Given the description of an element on the screen output the (x, y) to click on. 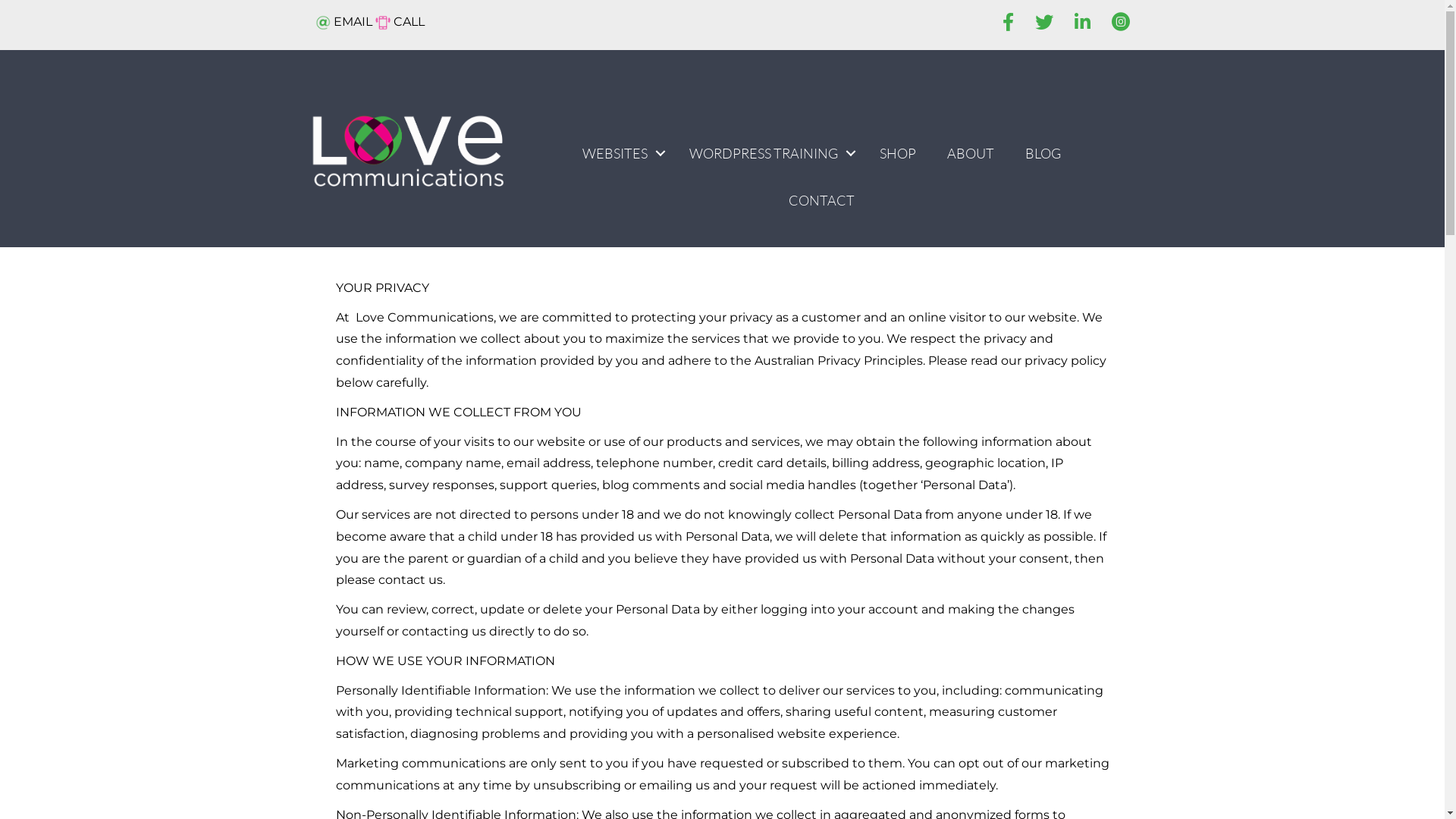
EMAIL Element type: text (343, 21)
BLOG Element type: text (1043, 152)
CALL Element type: text (398, 21)
ABOUT Element type: text (970, 152)
WORDPRESS TRAINING Element type: text (768, 152)
CONTACT Element type: text (821, 199)
SHOP Element type: text (897, 152)
WEBSITES Element type: text (620, 152)
